Given the description of an element on the screen output the (x, y) to click on. 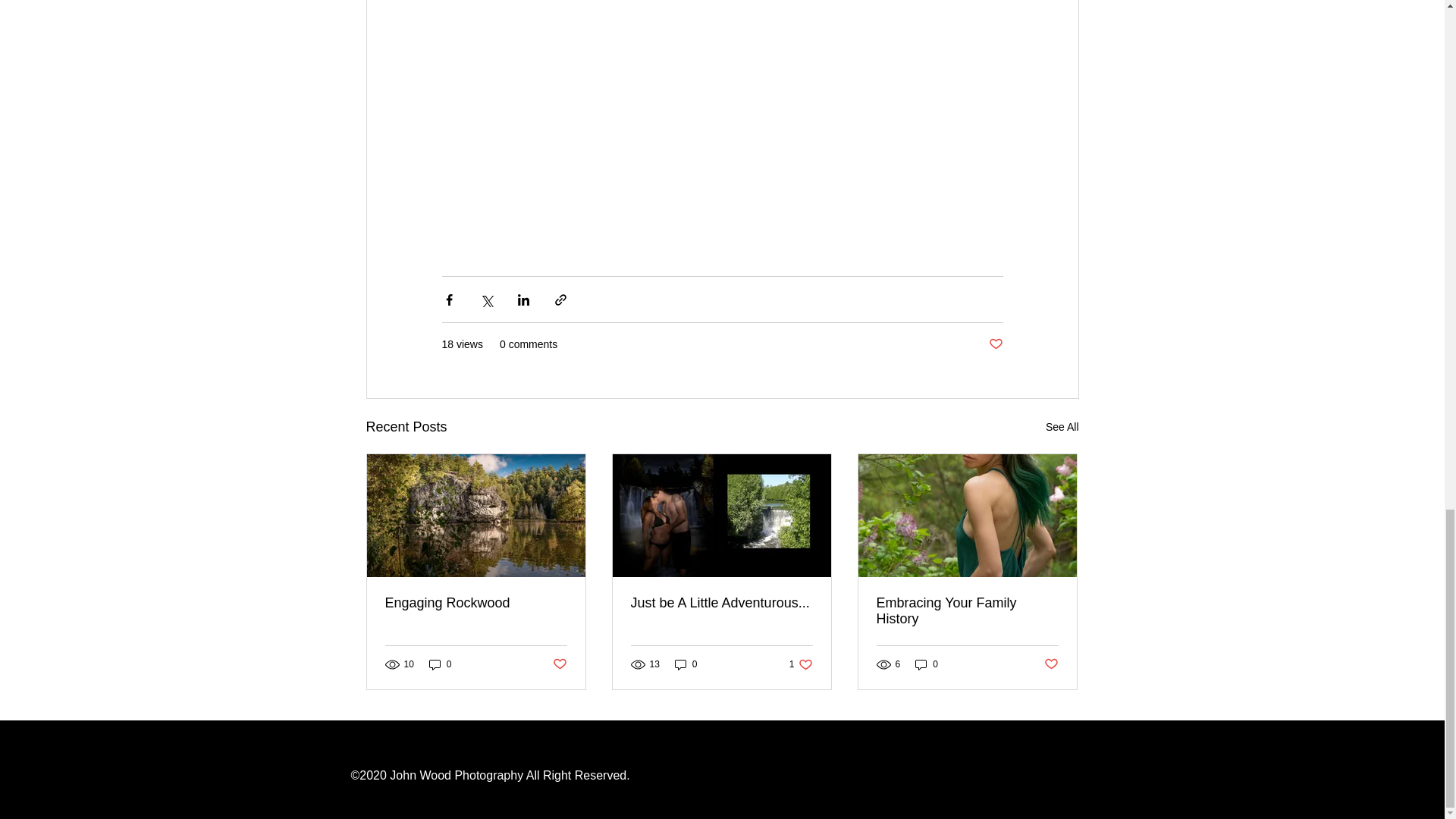
See All (1061, 427)
0 (685, 664)
0 (440, 664)
Post not marked as liked (558, 664)
Engaging Rockwood (476, 602)
Just be A Little Adventurous... (721, 602)
Post not marked as liked (995, 344)
